Given the description of an element on the screen output the (x, y) to click on. 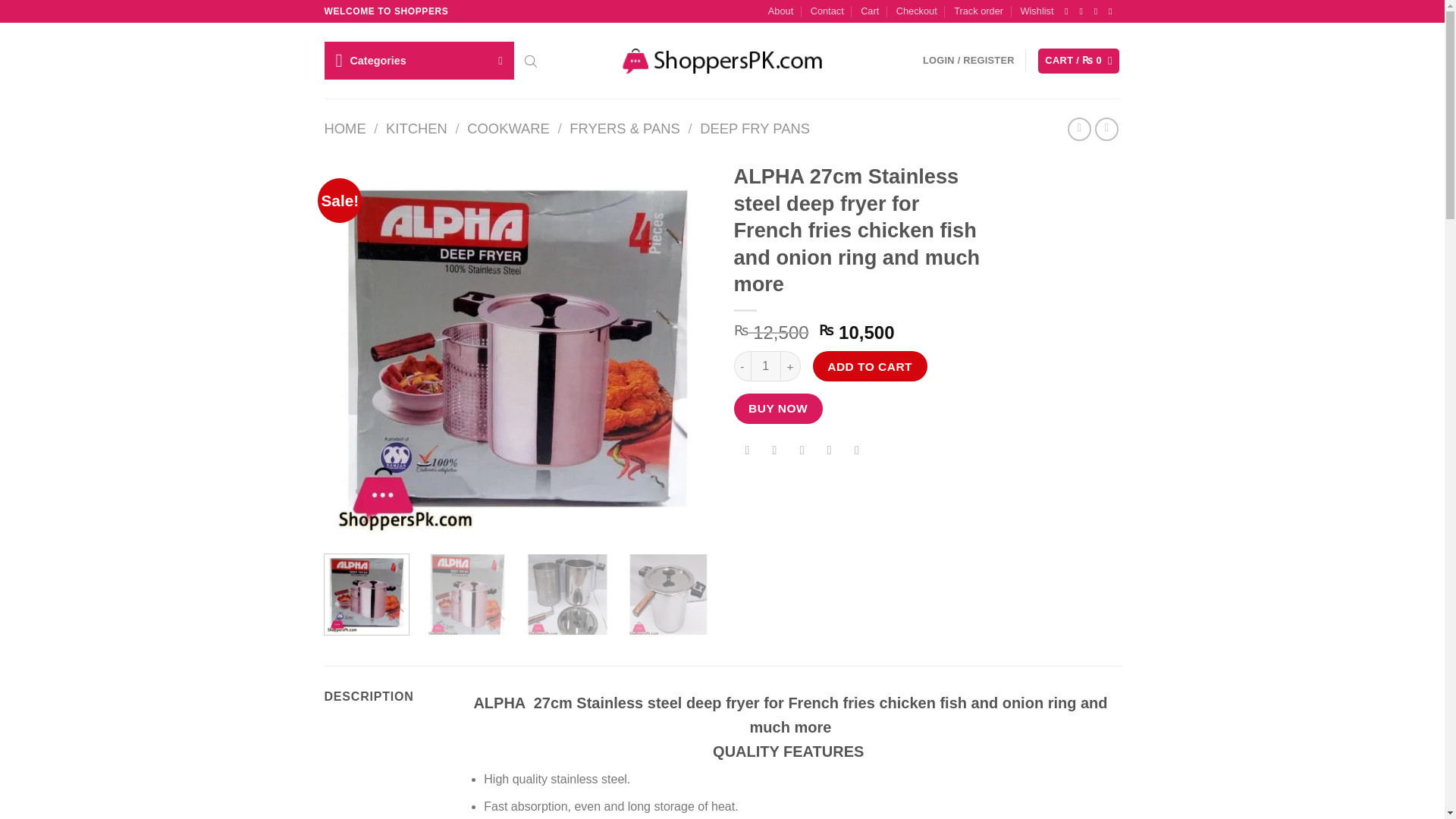
Track order (978, 11)
Cart (1078, 60)
Wishlist (1036, 11)
Login (968, 60)
ShoppersPk.com - Pakistan Most Reliable Online Shopping (721, 60)
About (780, 11)
Checkout (916, 11)
1 (765, 366)
Contact (827, 11)
